Given the description of an element on the screen output the (x, y) to click on. 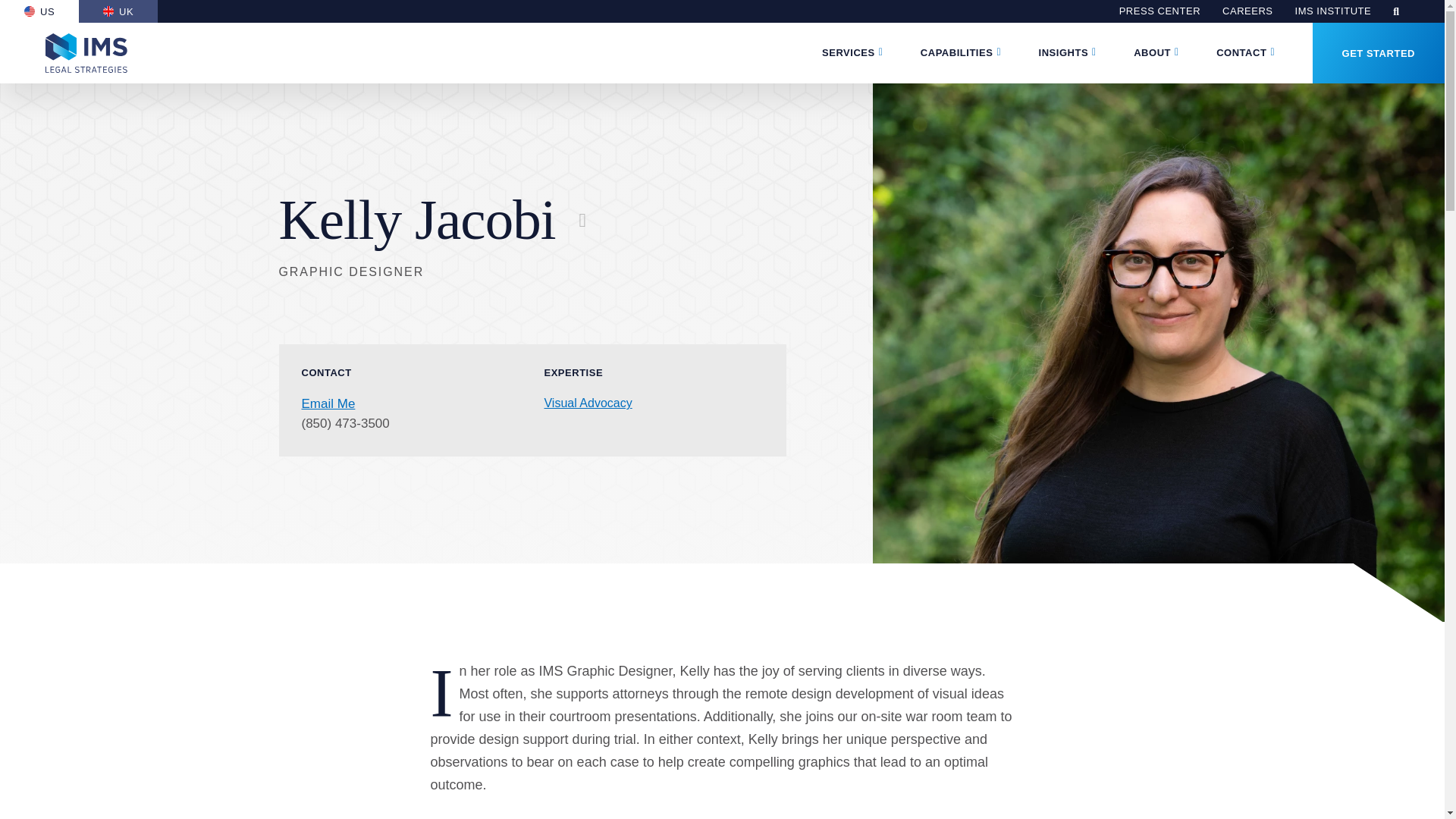
Email (328, 403)
Telephone (345, 423)
IMS INSTITUTE (1333, 10)
US (39, 11)
CAREERS (1247, 10)
PRESS CENTER (1159, 10)
CAPABILITIES (956, 52)
